Given the description of an element on the screen output the (x, y) to click on. 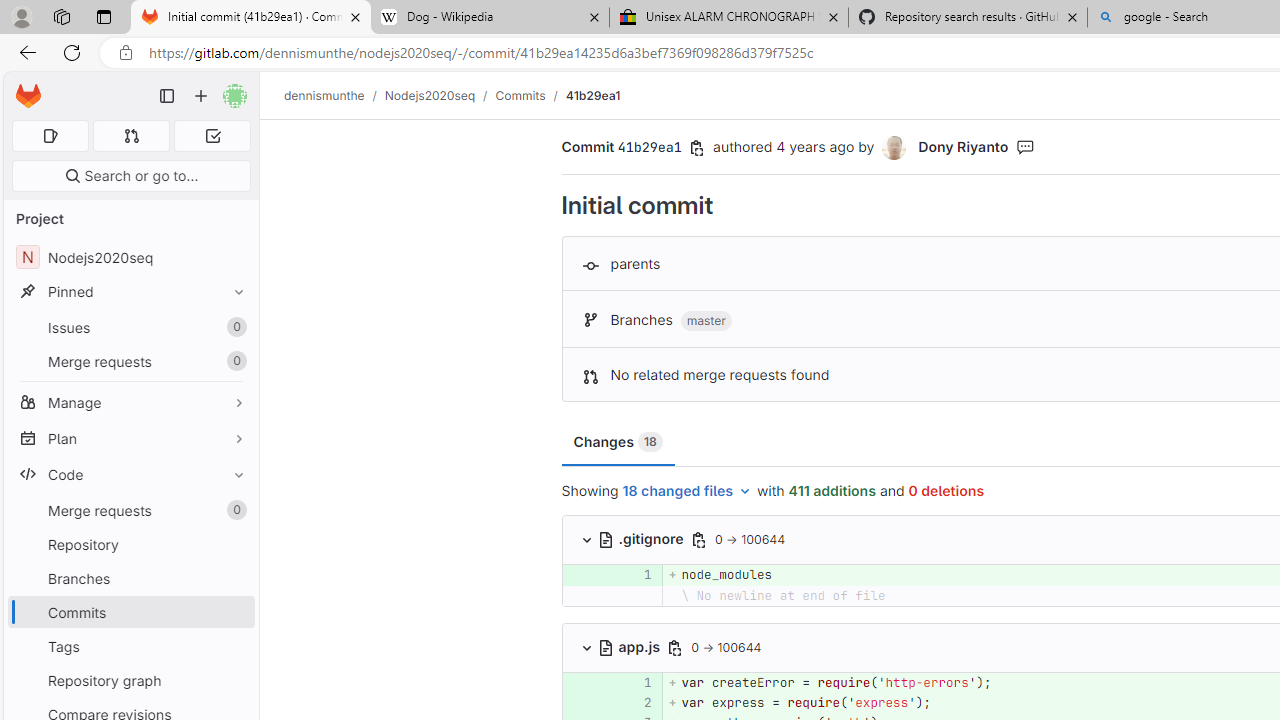
Plan (130, 438)
18 changed files (687, 491)
Dony Riyanto's avatar (894, 148)
2 (633, 701)
Unpin Issues (234, 327)
Commits (520, 95)
Issues0 (130, 327)
Copy commit SHA (697, 148)
dennismunthe/ (334, 95)
Pin Tags (234, 646)
Class: s12 (562, 700)
Class: s16 chevron-down (586, 647)
Pin Commits (234, 611)
Tags (130, 646)
